Given the description of an element on the screen output the (x, y) to click on. 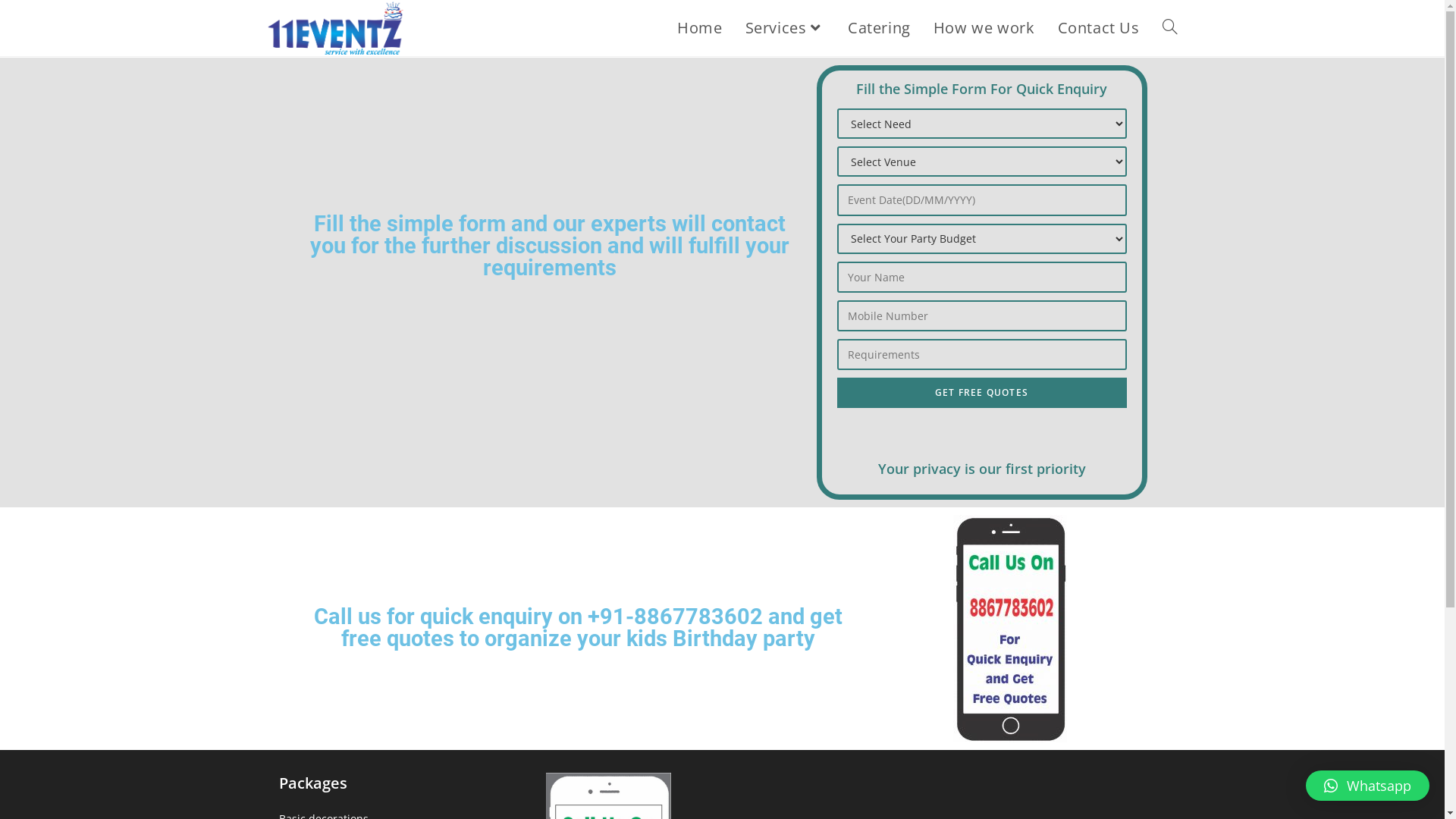
Contact Us Element type: text (1098, 28)
Get free quotes Element type: text (981, 392)
How we work Element type: text (984, 28)
Services Element type: text (785, 28)
Whatsapp Element type: text (1367, 785)
Home Element type: text (699, 28)
Catering Element type: text (879, 28)
